Given the description of an element on the screen output the (x, y) to click on. 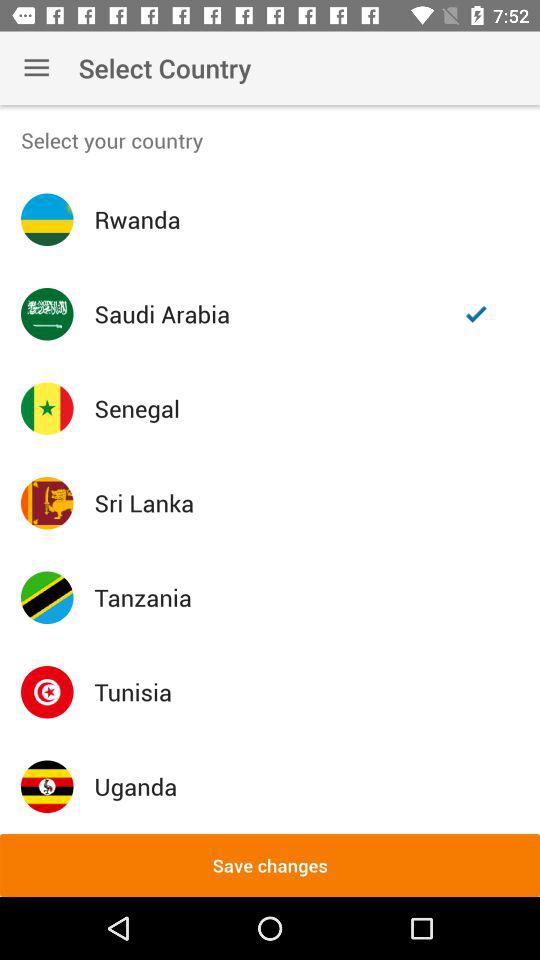
press the save changes item (270, 864)
